Given the description of an element on the screen output the (x, y) to click on. 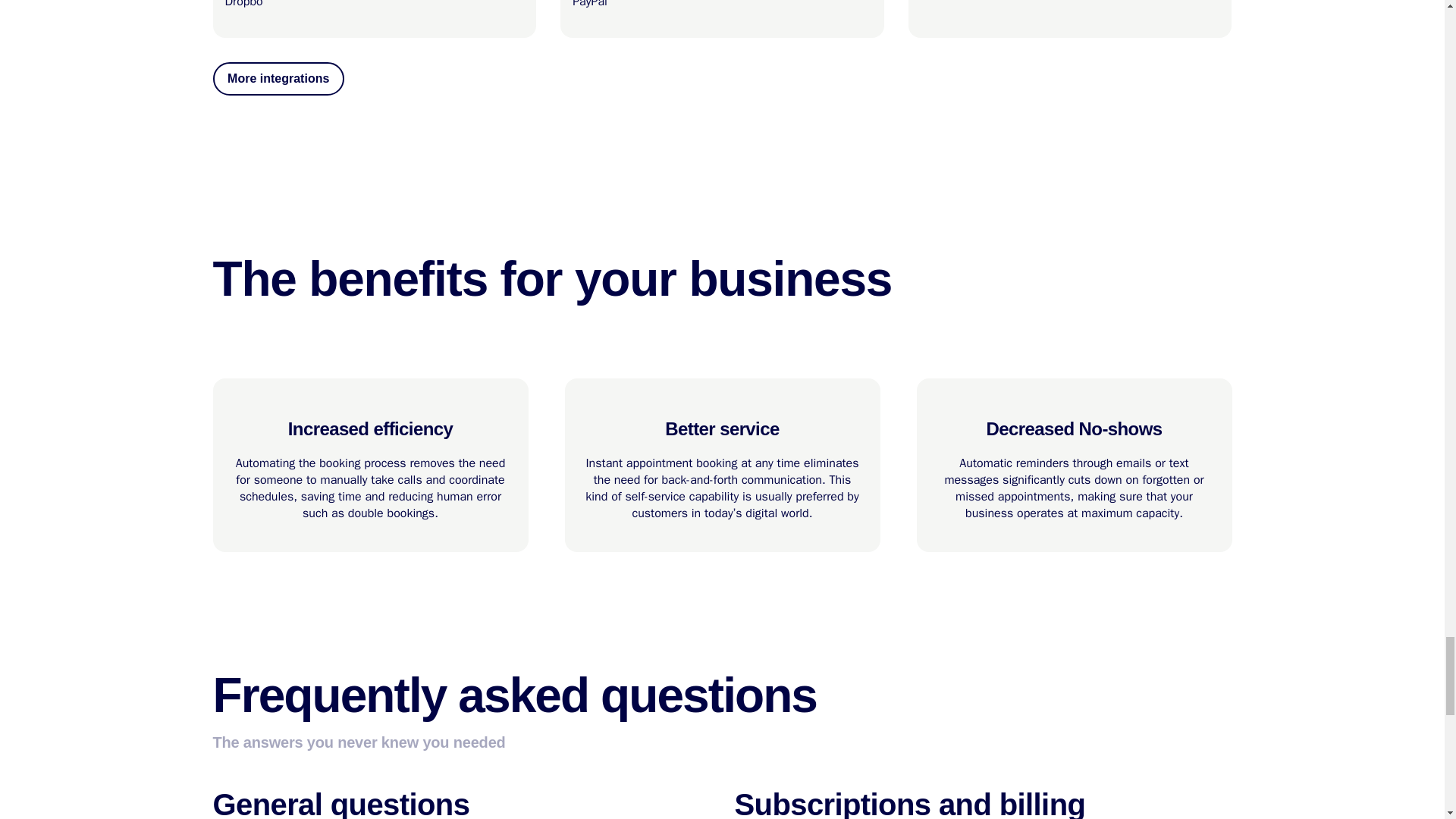
More integrations (1069, 19)
